Given the description of an element on the screen output the (x, y) to click on. 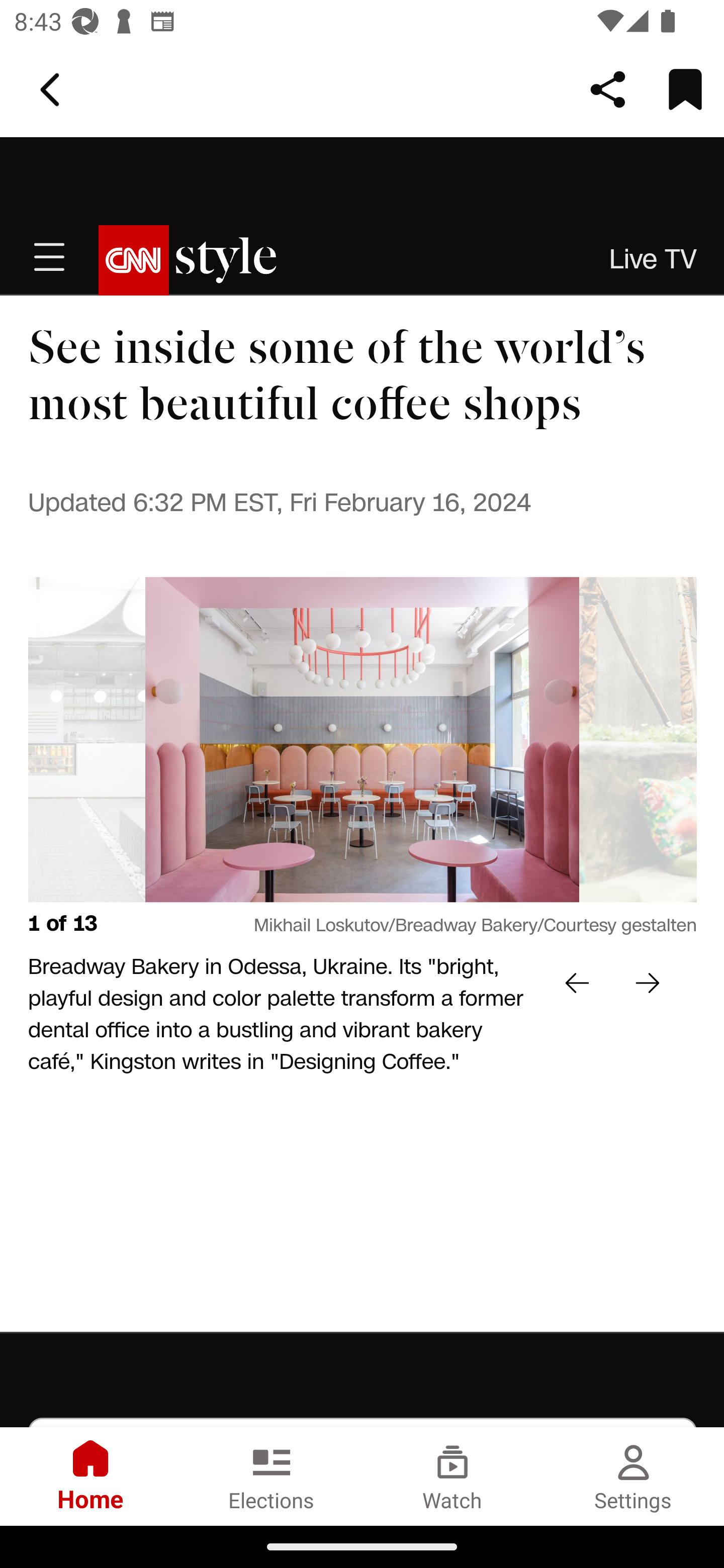
Back Button (52, 89)
Share (607, 89)
Bookmark (685, 89)
CNN logo (134, 260)
style (226, 260)
Open Menu Icon (49, 261)
Live TV (653, 260)
view previous image (196, 740)
view next image (530, 740)
view previous image (577, 983)
view next image (648, 983)
Elections (271, 1475)
Watch (452, 1475)
Settings (633, 1475)
